Given the description of an element on the screen output the (x, y) to click on. 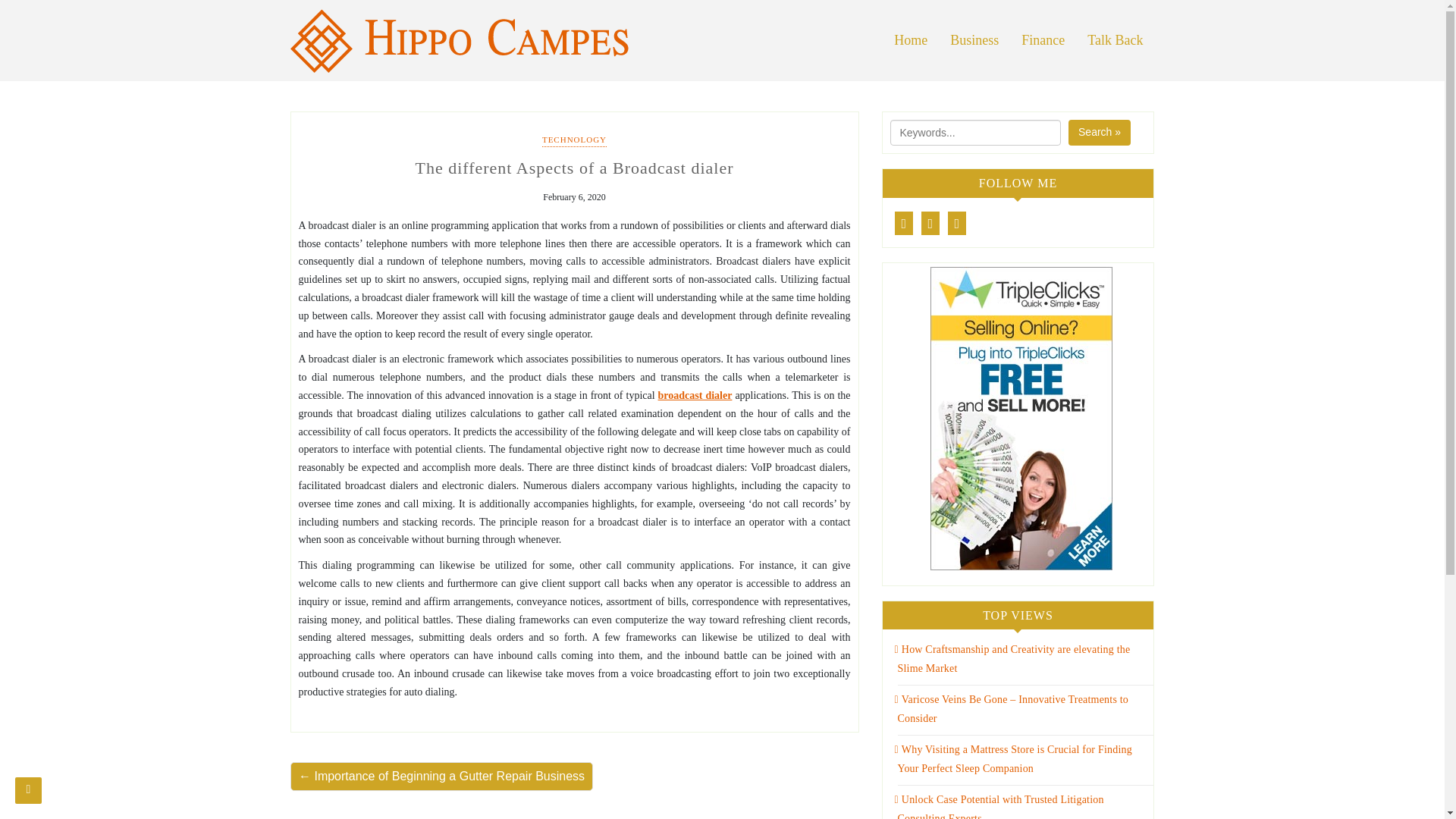
broadcast dialer (695, 395)
TECHNOLOGY (574, 141)
Talk Back (1114, 40)
